Given the description of an element on the screen output the (x, y) to click on. 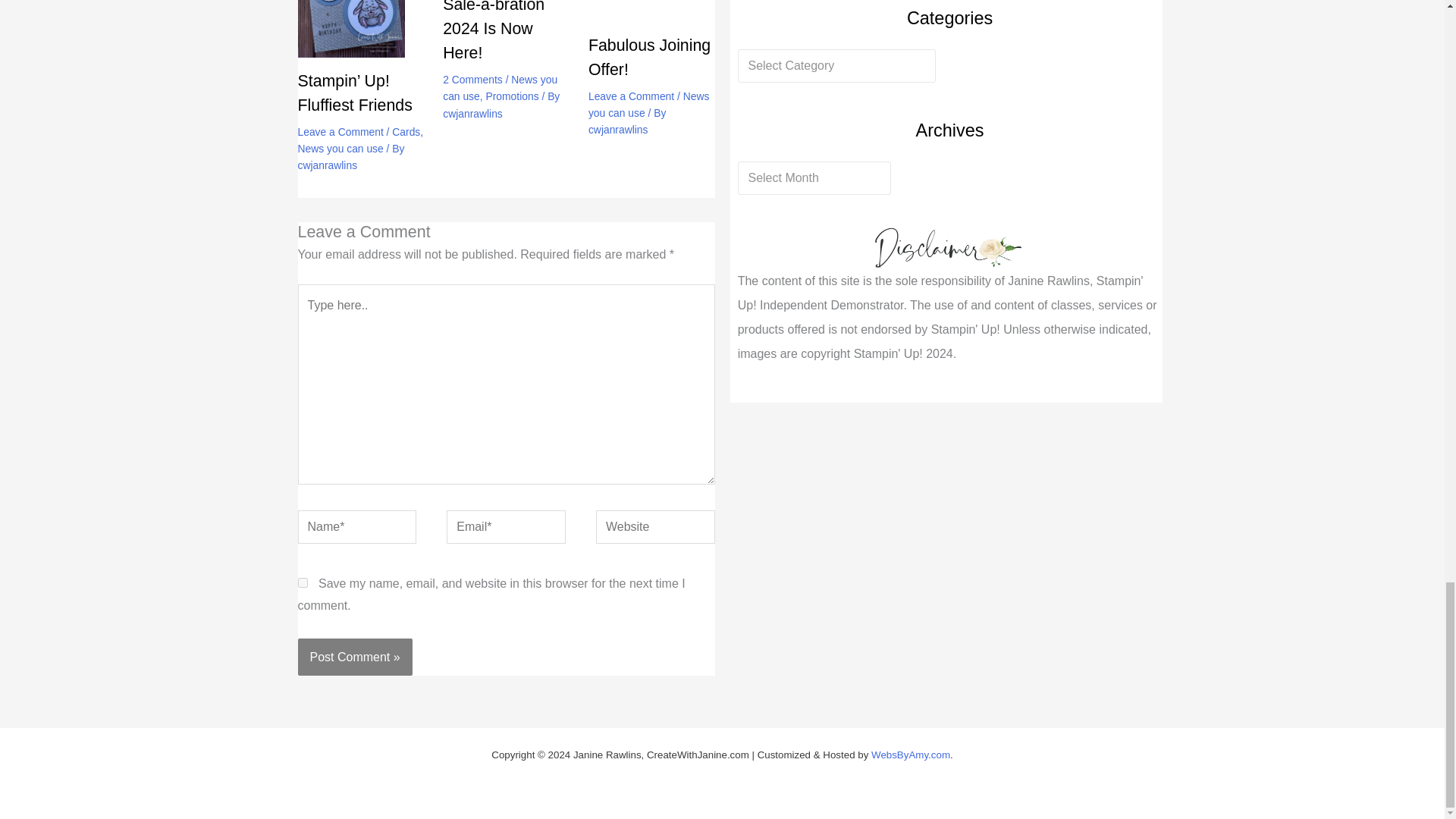
Leave a Comment (339, 132)
View all posts by cwjanrawlins (472, 113)
yes (302, 583)
View all posts by cwjanrawlins (617, 129)
View all posts by cwjanrawlins (326, 164)
